Given the description of an element on the screen output the (x, y) to click on. 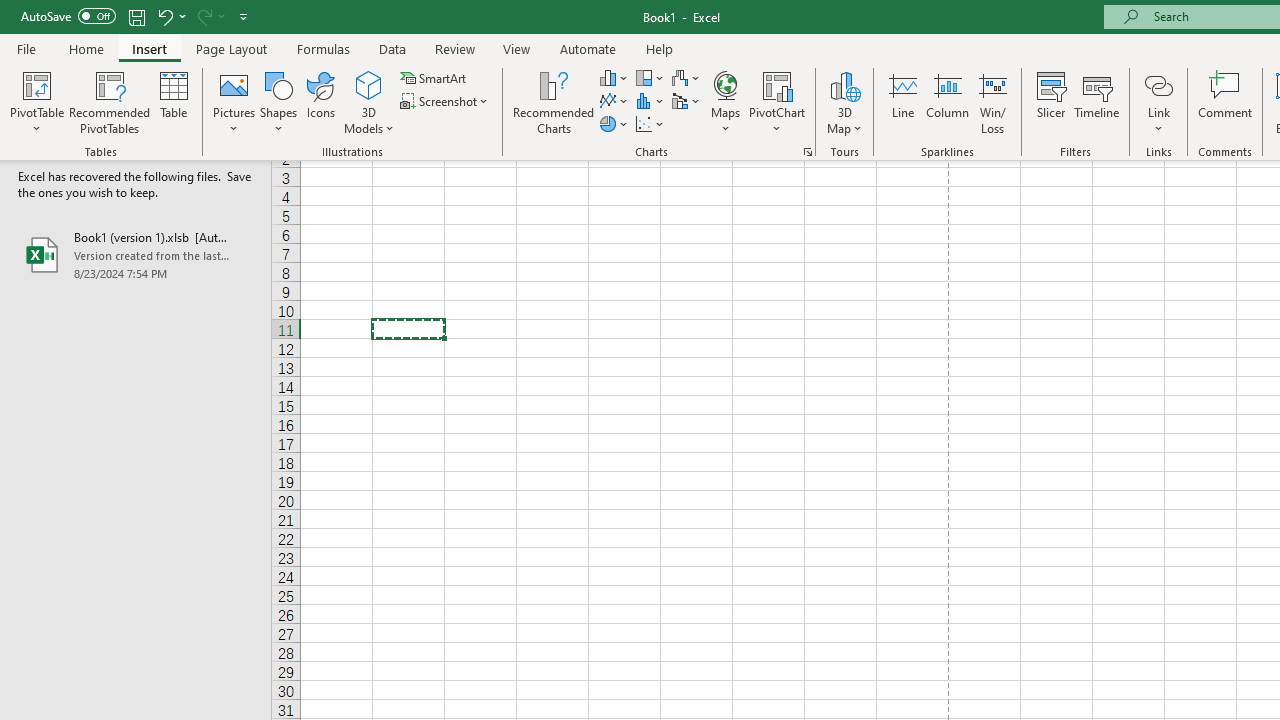
Customize Quick Access Toolbar (244, 15)
Help (660, 48)
Home (86, 48)
Insert (149, 48)
Review (454, 48)
Formulas (323, 48)
AutoSave (68, 16)
File Tab (26, 48)
Book1 (version 1).xlsb  [AutoRecovered] (136, 254)
Data (392, 48)
